Given the description of an element on the screen output the (x, y) to click on. 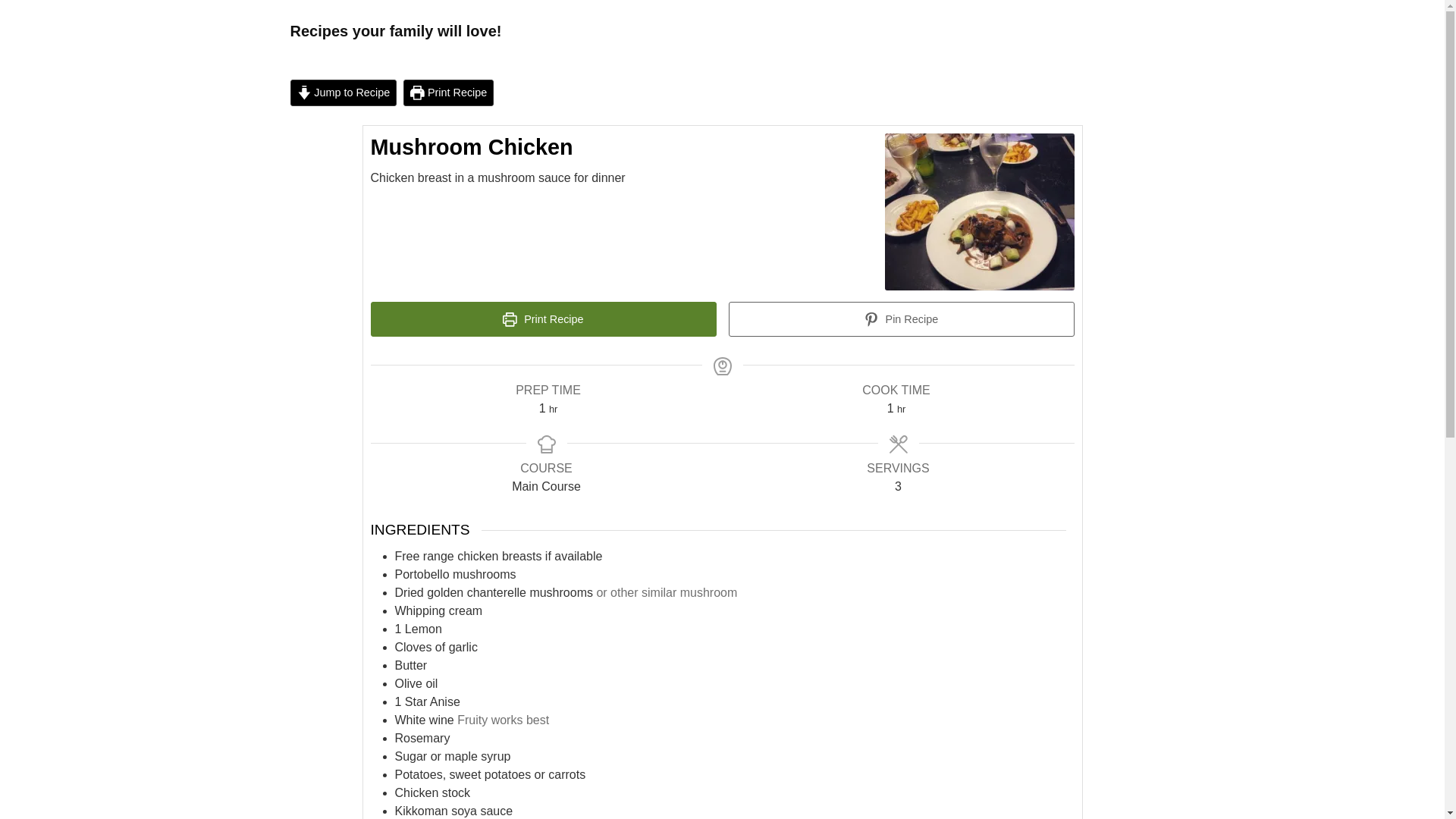
Jump to Recipe (342, 92)
Pin Recipe (901, 319)
Print Recipe (448, 92)
Print Recipe (542, 319)
